Given the description of an element on the screen output the (x, y) to click on. 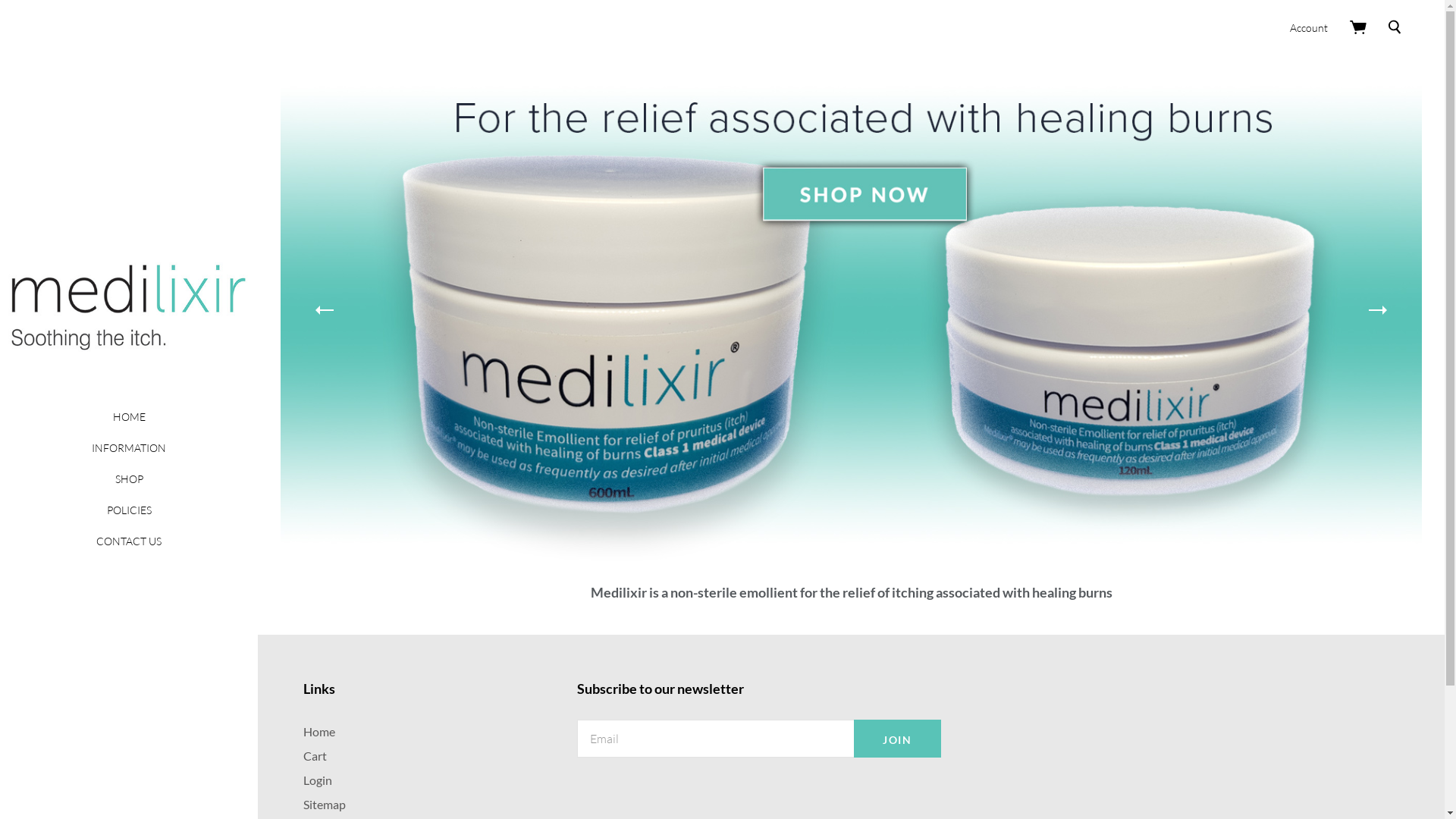
SHOP Element type: text (129, 478)
Home Element type: text (319, 731)
Account Element type: text (1308, 27)
CONTACT US Element type: text (128, 540)
Cart Element type: text (314, 755)
Login Element type: text (317, 779)
INFORMATION Element type: text (128, 447)
Sitemap Element type: text (324, 804)
Cart Element type: text (1358, 27)
Join Element type: text (897, 738)
HOME Element type: text (128, 416)
POLICIES Element type: text (128, 509)
